Given the description of an element on the screen output the (x, y) to click on. 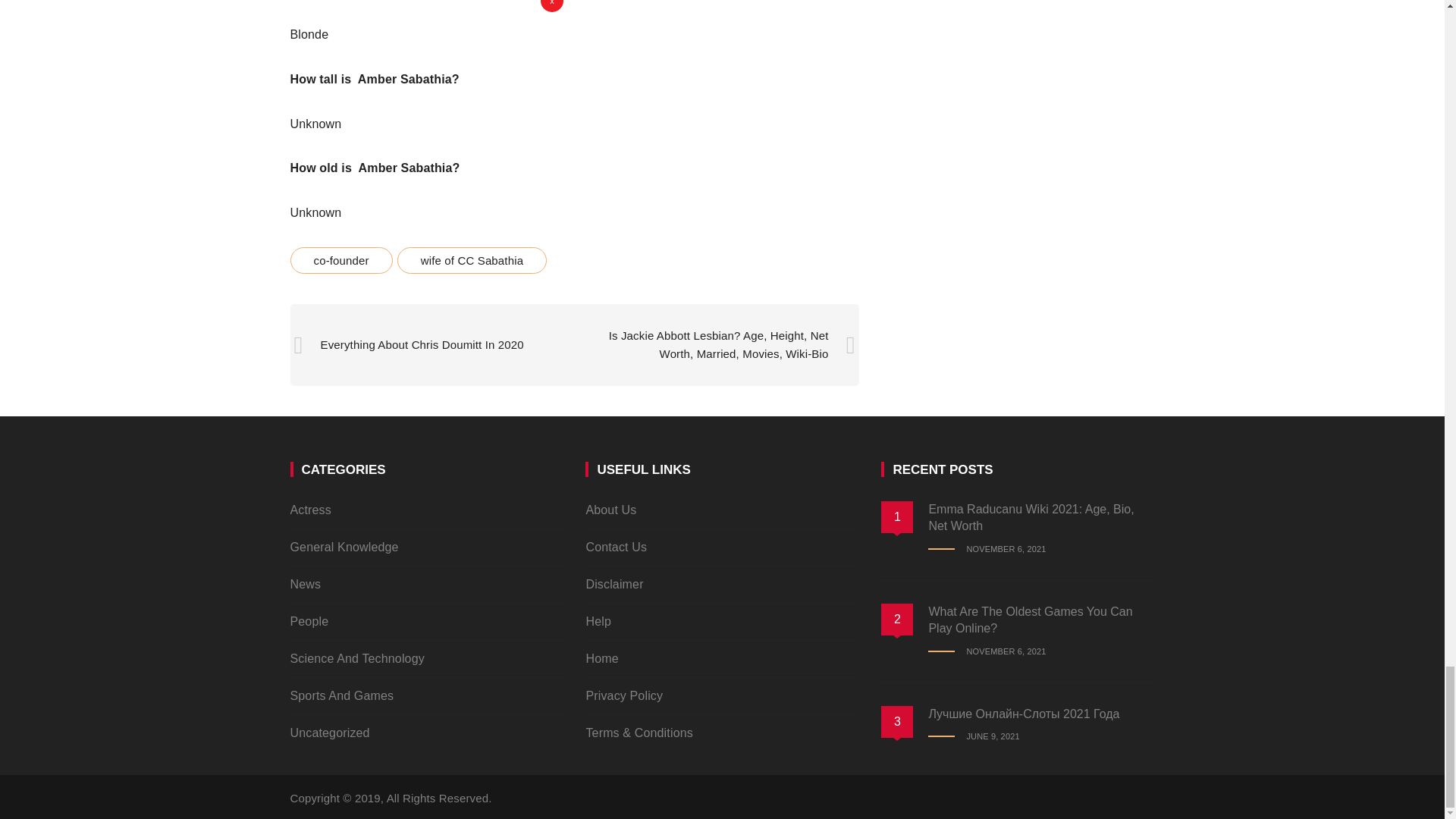
wife of CC Sabathia (472, 260)
Everything About Chris Doumitt In 2020 (421, 344)
co-founder (340, 260)
